Given the description of an element on the screen output the (x, y) to click on. 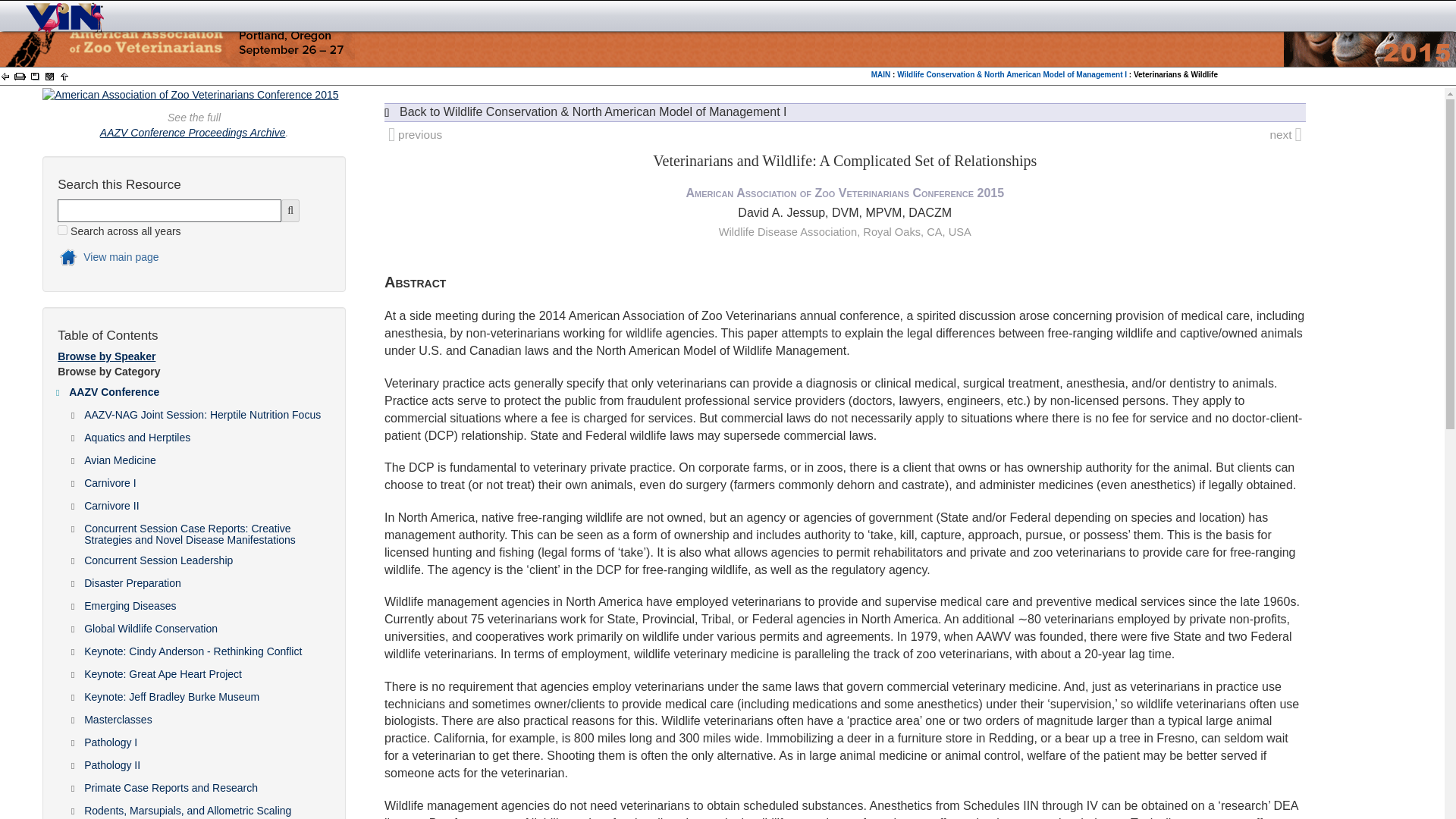
on (62, 230)
